Given the description of an element on the screen output the (x, y) to click on. 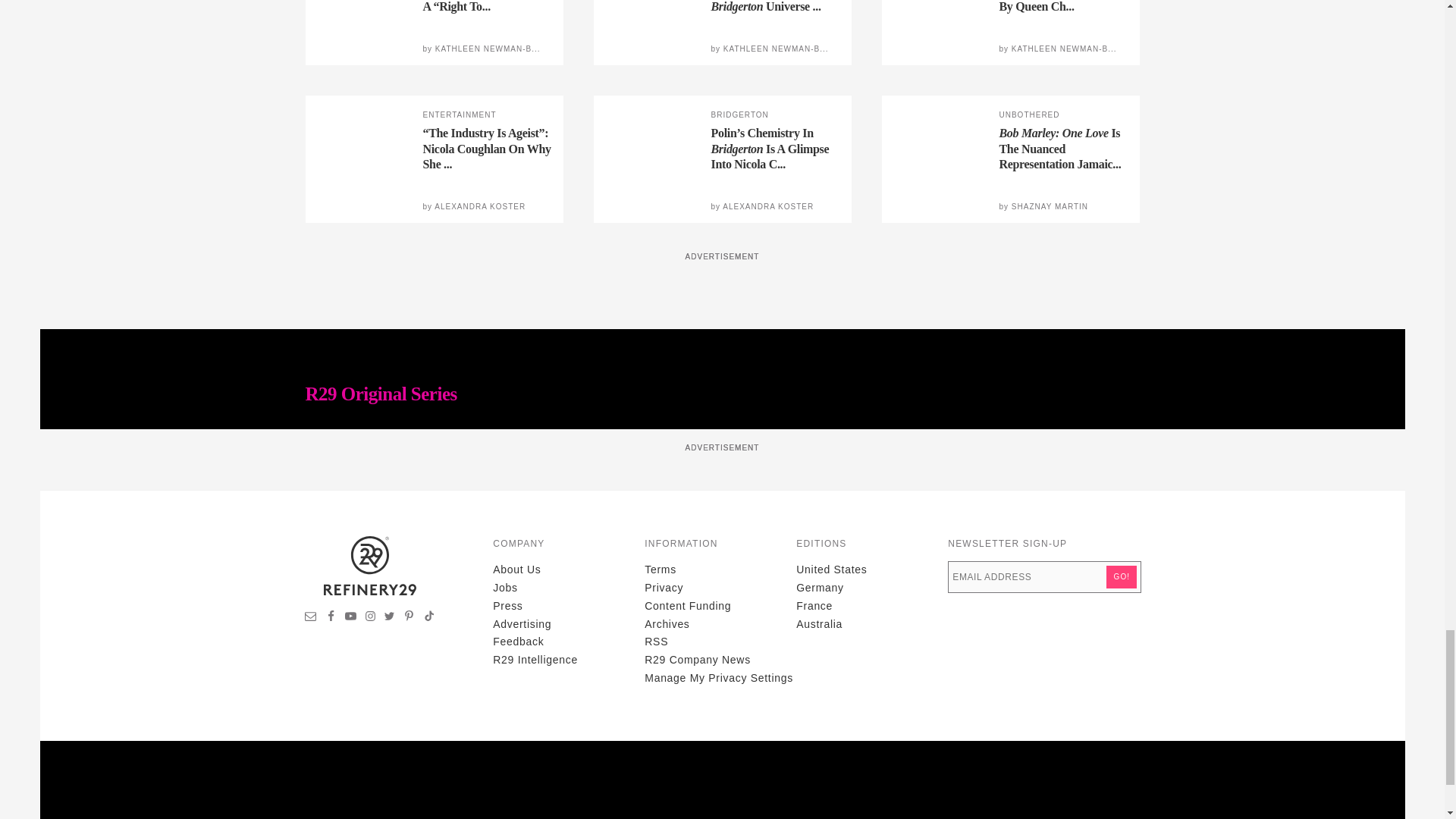
Sign up for newsletters (310, 617)
Visit Refinery29 on YouTube (350, 617)
Visit Refinery29 on TikTok (428, 617)
